Given the description of an element on the screen output the (x, y) to click on. 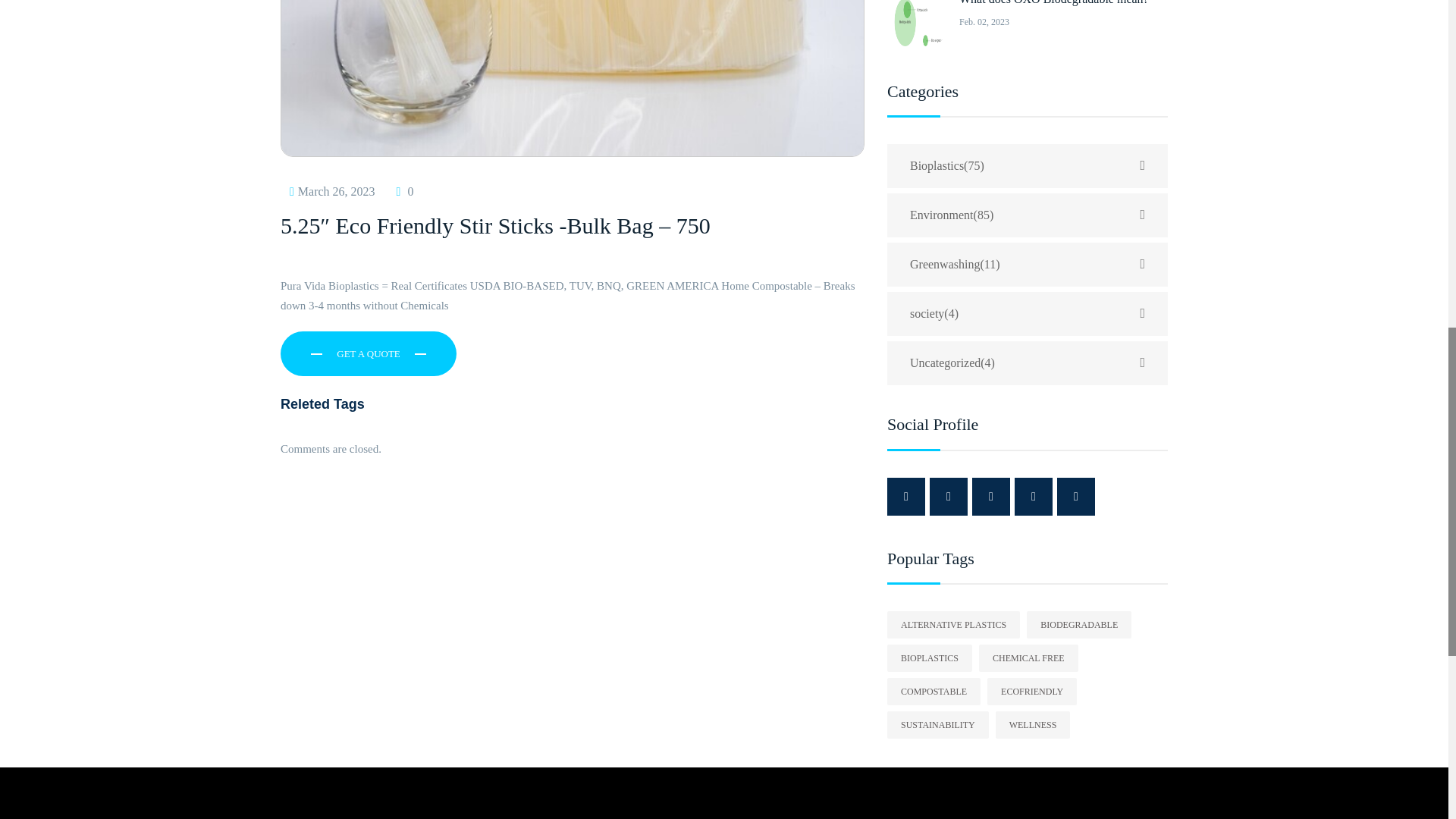
CHEMICAL FREE (1028, 657)
BIOPLASTICS (929, 657)
GET A QUOTE (369, 353)
COMPOSTABLE (932, 691)
BIODEGRADABLE (1078, 624)
ALTERNATIVE PLASTICS (953, 624)
What does OXO Biodegradable mean? (1053, 2)
ECOFRIENDLY (1032, 691)
